Given the description of an element on the screen output the (x, y) to click on. 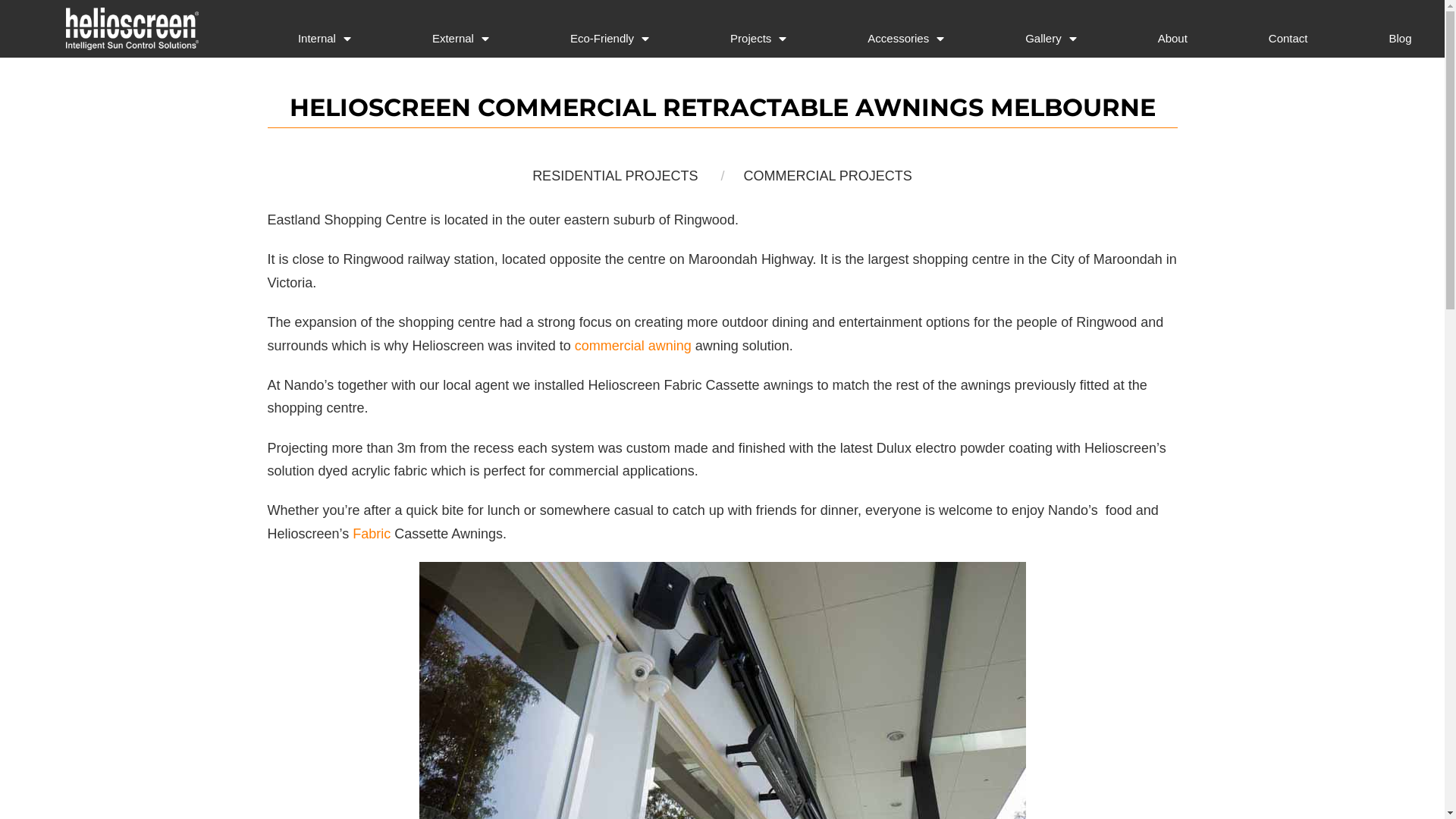
External Element type: text (459, 38)
COMMERCIAL PROJECTS Element type: text (827, 175)
Eco-Friendly Element type: text (608, 38)
Gallery Element type: text (1051, 38)
Internal Element type: text (323, 38)
Accessories Element type: text (905, 38)
Projects Element type: text (758, 38)
Blog Element type: text (1399, 38)
RESIDENTIAL PROJECTS Element type: text (614, 175)
commercial awning Element type: text (632, 345)
About Element type: text (1172, 38)
Fabric Element type: text (371, 533)
Contact Element type: text (1287, 38)
